Given the description of an element on the screen output the (x, y) to click on. 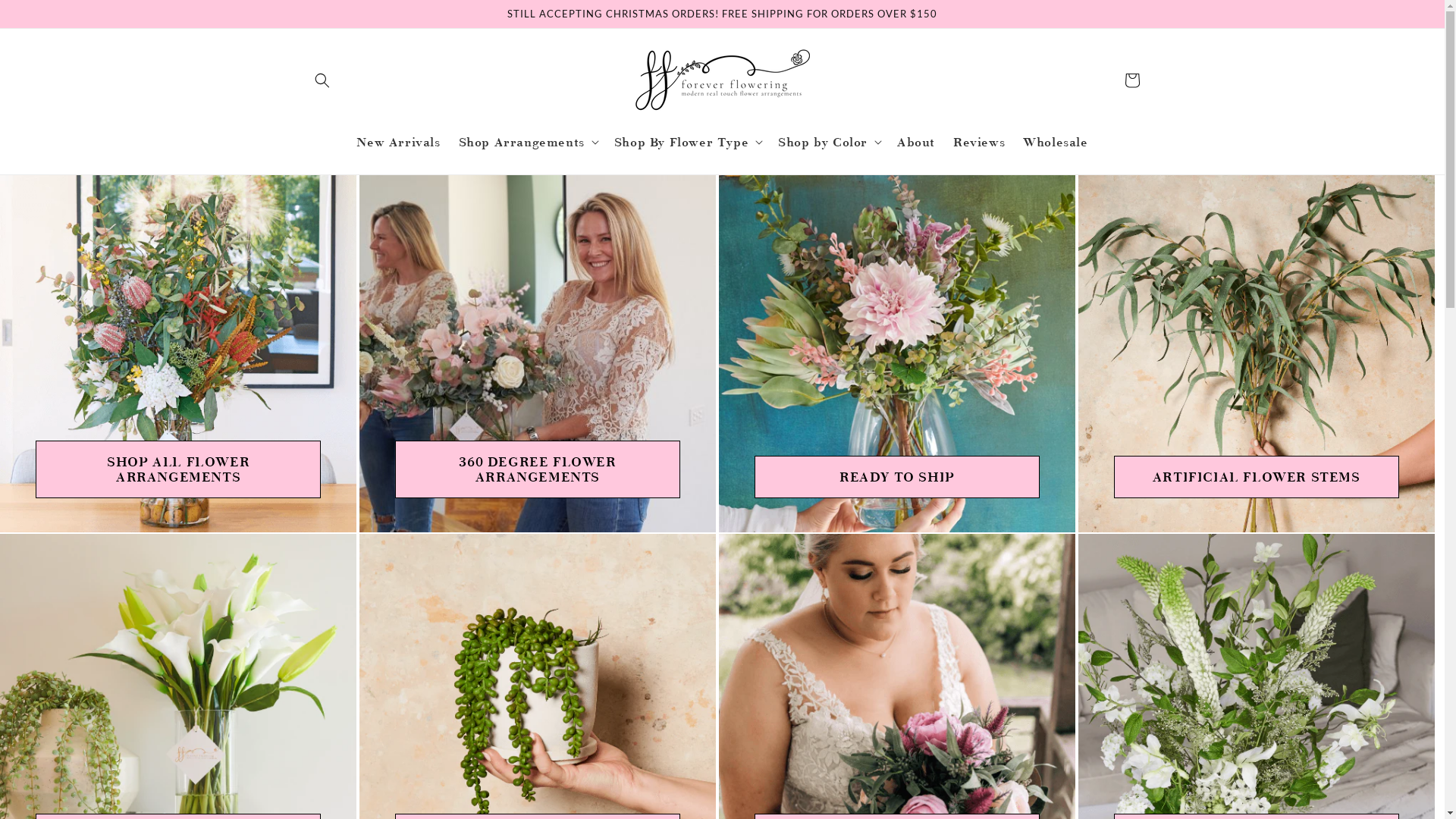
READY TO SHIP Element type: text (896, 476)
About Element type: text (916, 141)
Wholesale Element type: text (1054, 141)
Reviews Element type: text (978, 141)
ARTIFICIAL FLOWER STEMS Element type: text (1256, 476)
SHOP ALL FLOWER ARRANGEMENTS Element type: text (177, 469)
360 DEGREE FLOWER ARRANGEMENTS Element type: text (537, 469)
New Arrivals Element type: text (397, 141)
Cart Element type: text (1131, 80)
